Given the description of an element on the screen output the (x, y) to click on. 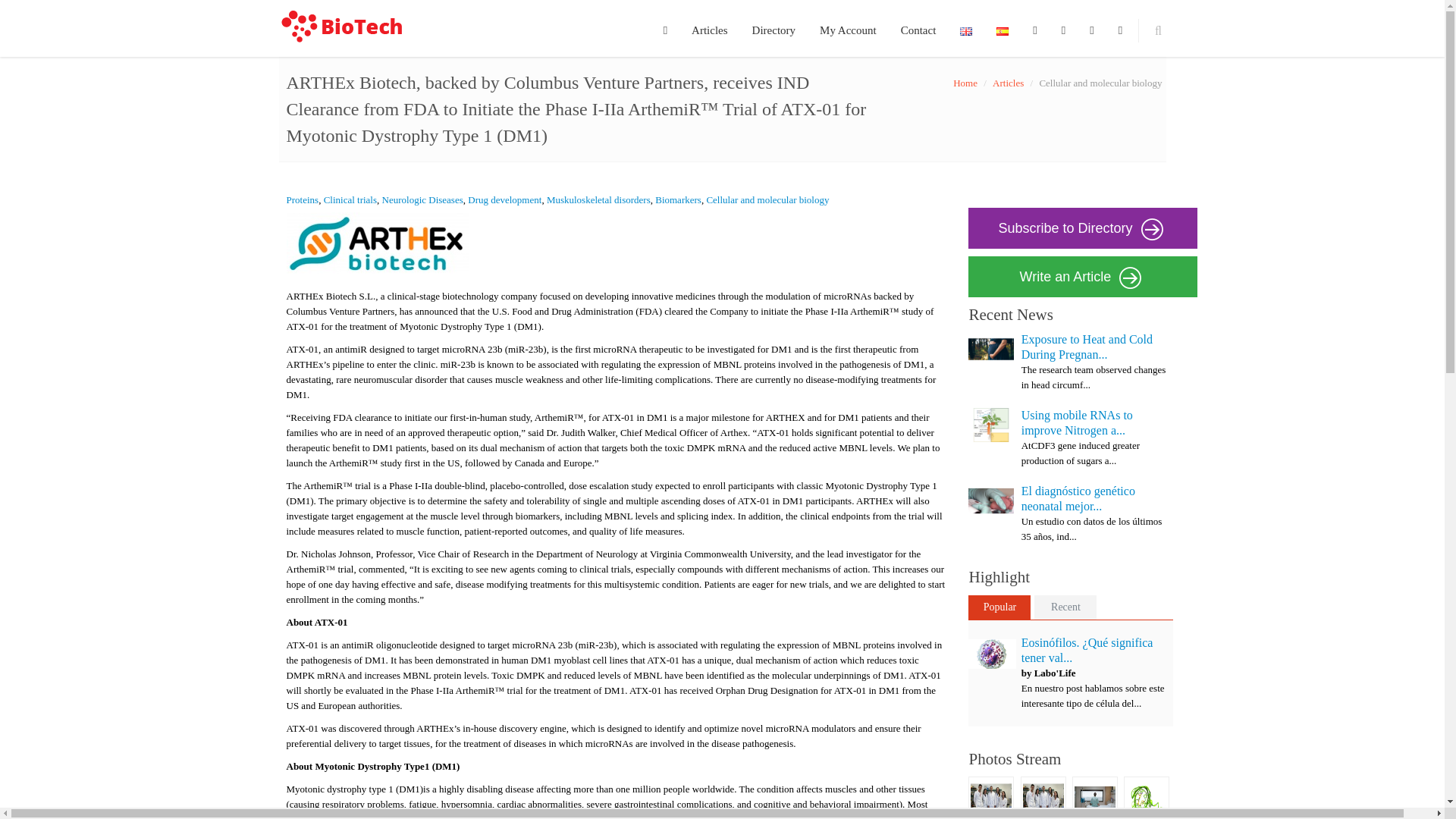
Proteins (302, 199)
Drug development (504, 199)
Neurologic Diseases (422, 199)
Articles (1007, 82)
Cellular and molecular biology (767, 199)
Home (964, 82)
Popular (999, 607)
Contact (918, 28)
Write an Article (1082, 276)
Clinical trials (350, 199)
Subscribe to Directory (1082, 228)
Articles (709, 28)
Using mobile RNAs to improve Nitrogen a... (1077, 422)
Muskuloskeletal disorders (598, 199)
Directory (773, 28)
